Given the description of an element on the screen output the (x, y) to click on. 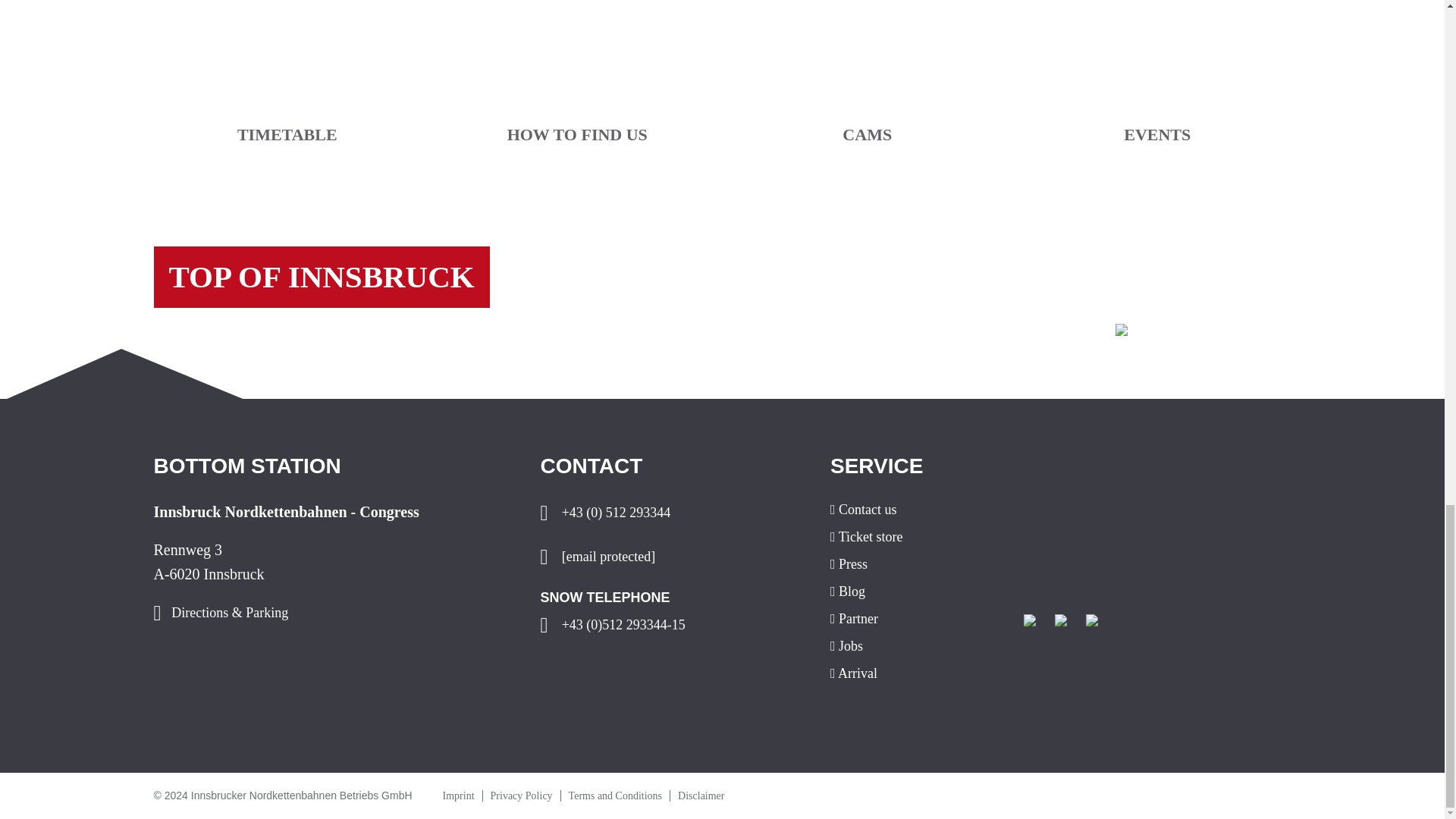
Contact us (915, 509)
Press (915, 564)
Ticket store (915, 537)
